Given the description of an element on the screen output the (x, y) to click on. 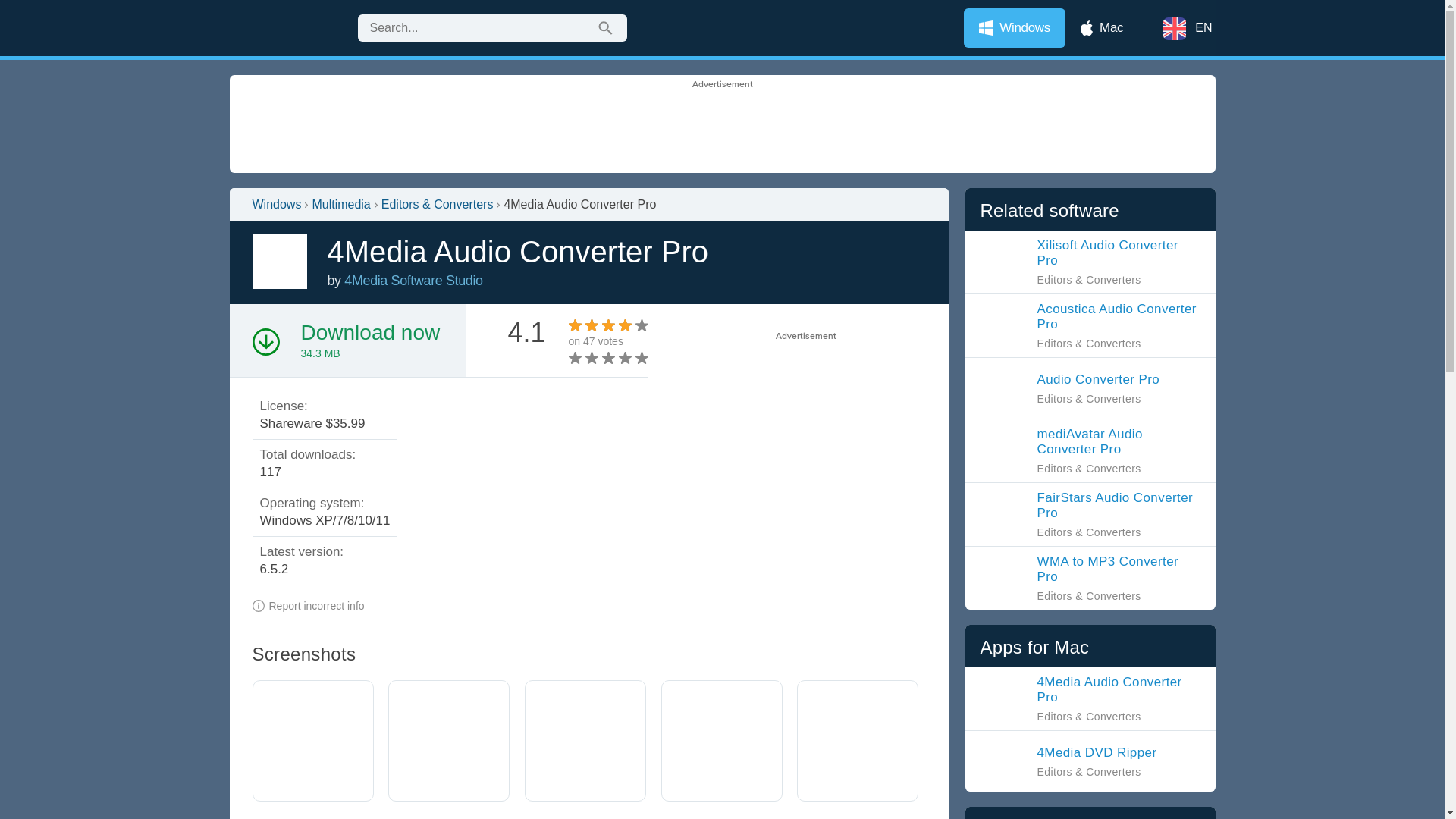
5 (608, 357)
4Media Audio Converter Pro 4Media Software Studio (412, 280)
Download now (369, 332)
Audio Converter Pro (1068, 388)
mediAvatar Audio Converter Pro (1089, 450)
FairStars Audio Converter Pro (1089, 514)
Xilisoft Audio Converter Pro (1089, 261)
Windows (1014, 27)
3 (593, 357)
